Given the description of an element on the screen output the (x, y) to click on. 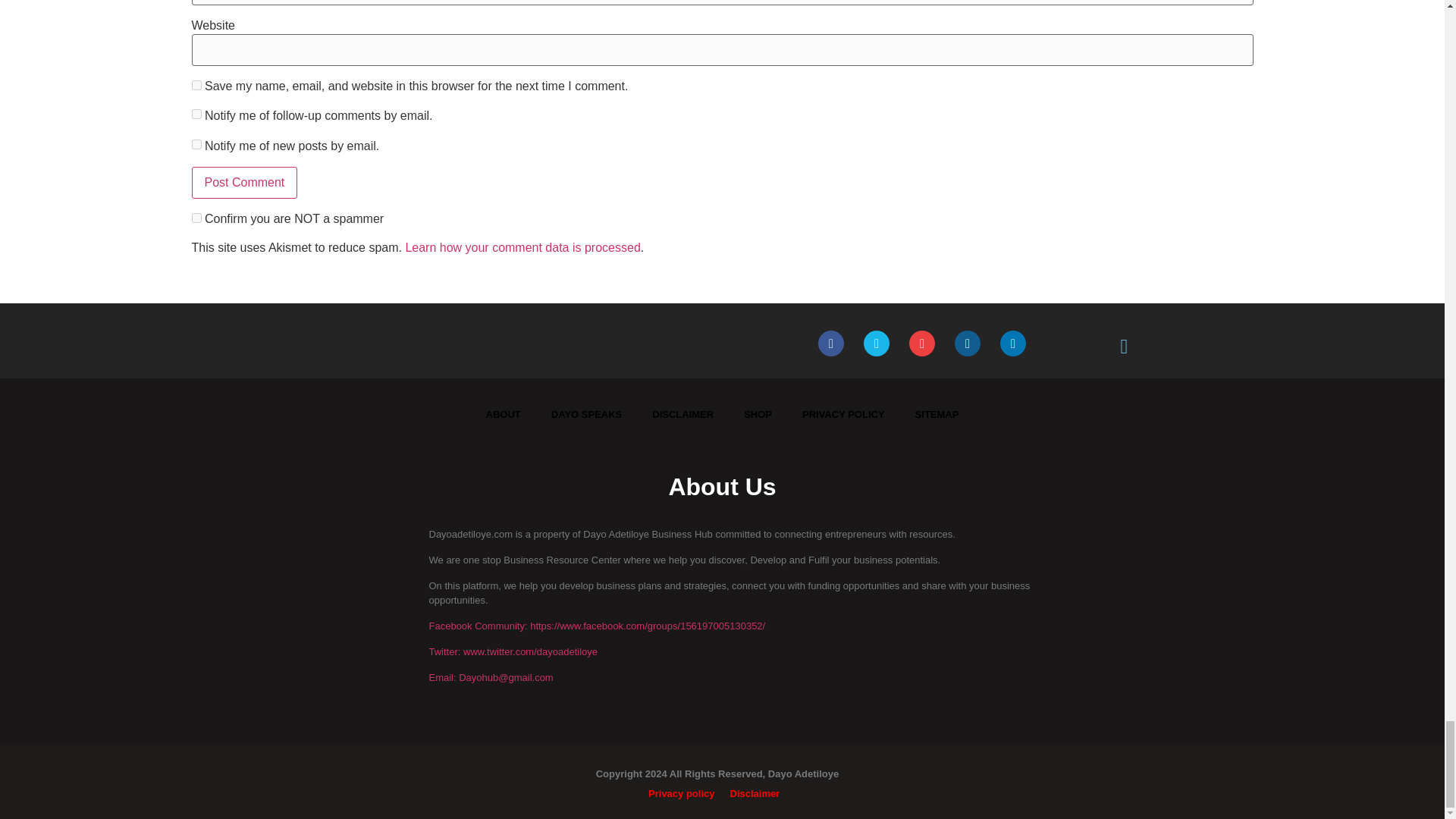
subscribe (195, 144)
on (195, 217)
yes (195, 85)
subscribe (195, 113)
Post Comment (243, 183)
